Given the description of an element on the screen output the (x, y) to click on. 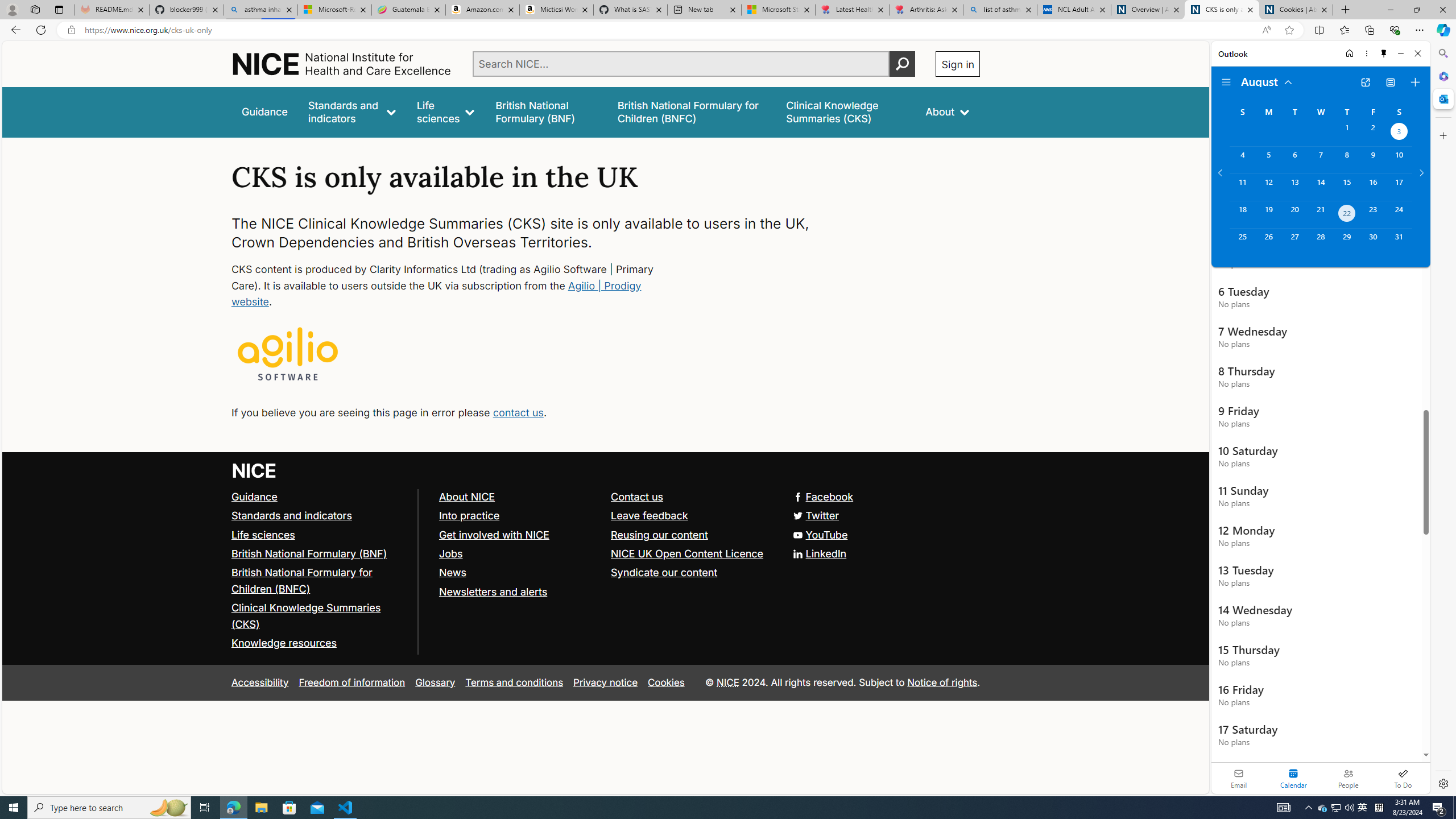
About NICE (466, 496)
Logo for Clarity Consulting (288, 355)
British National Formulary for Children (BNFC) (319, 580)
Unpin side pane (1383, 53)
Saturday, August 3, 2024. Date selected.  (1399, 132)
Terms and conditions (514, 682)
Sunday, August 25, 2024.  (1242, 241)
About NICE (518, 496)
Knowledge resources (319, 643)
Reusing our content (659, 534)
Tuesday, August 6, 2024.  (1294, 159)
